Given the description of an element on the screen output the (x, y) to click on. 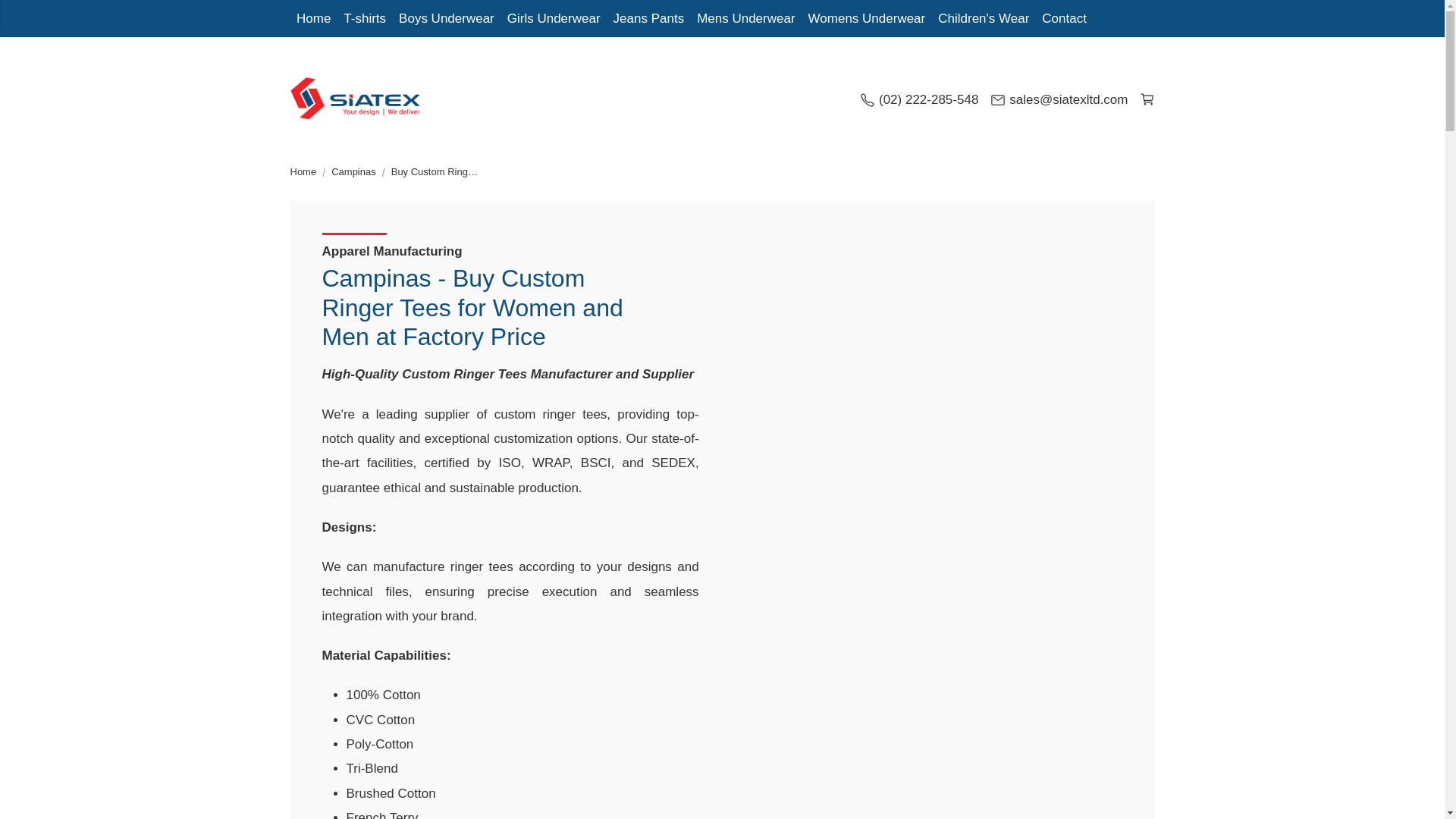
Home (312, 18)
Buy Custom Ringer Tees For Women And Men At Factory Price (436, 171)
Home (302, 171)
Girls Underwear (553, 18)
Womens Underwear (866, 18)
T-shirts (365, 18)
Children's Wear (983, 18)
Campinas (353, 171)
Boys Underwear (446, 18)
Mens Underwear (746, 18)
Contact (1064, 18)
Jeans Pants (648, 18)
Home (302, 171)
